Given the description of an element on the screen output the (x, y) to click on. 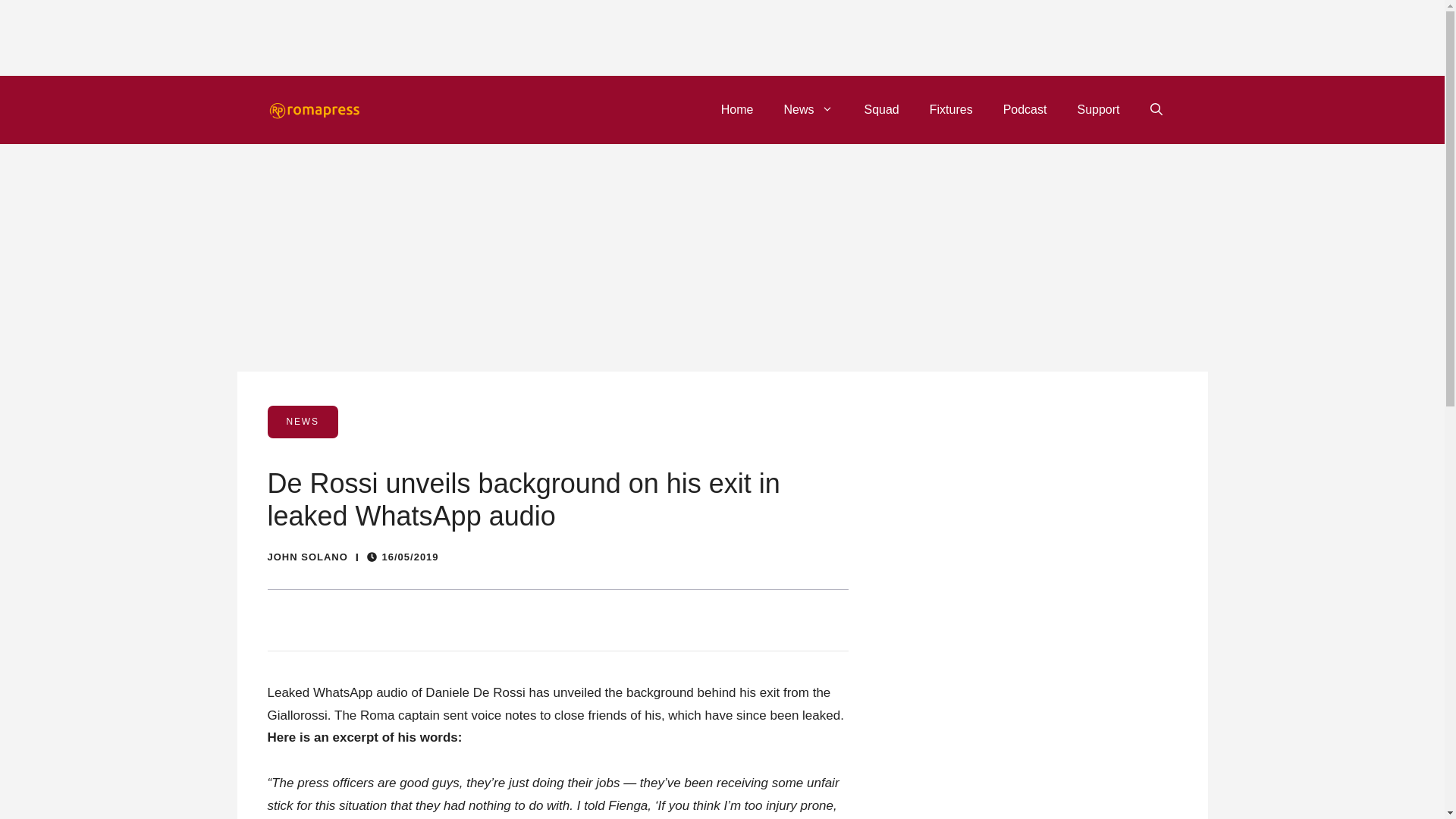
Support (1097, 109)
News (808, 109)
Squad (881, 109)
Podcast (1025, 109)
Fixtures (951, 109)
Home (737, 109)
